Given the description of an element on the screen output the (x, y) to click on. 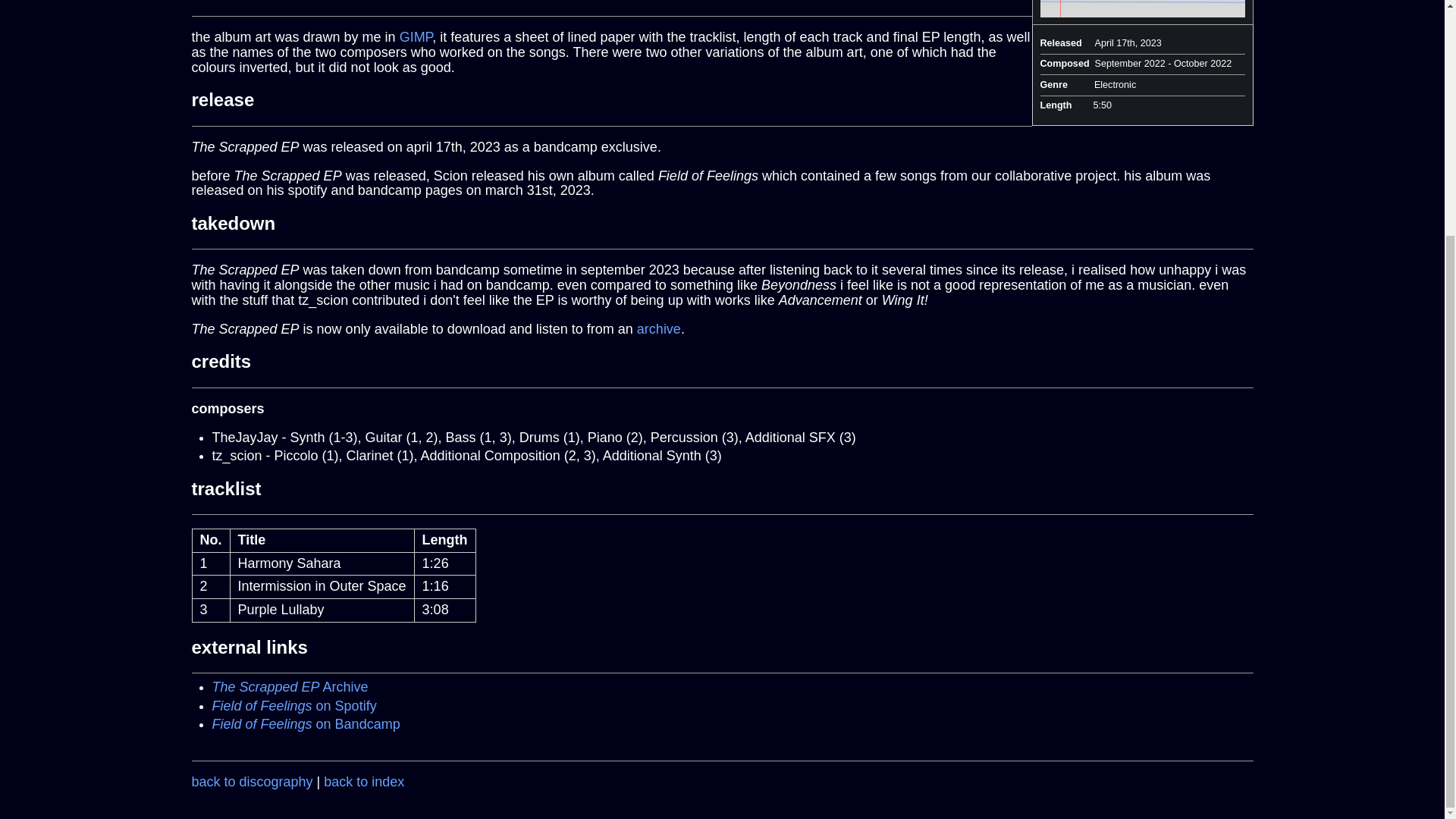
archive (659, 328)
GIMP (415, 37)
back to discography (251, 781)
back to index (363, 781)
Field of Feelings on Bandcamp (306, 724)
The Scrapped EP Archive (290, 686)
Field of Feelings on Spotify (294, 705)
